Given the description of an element on the screen output the (x, y) to click on. 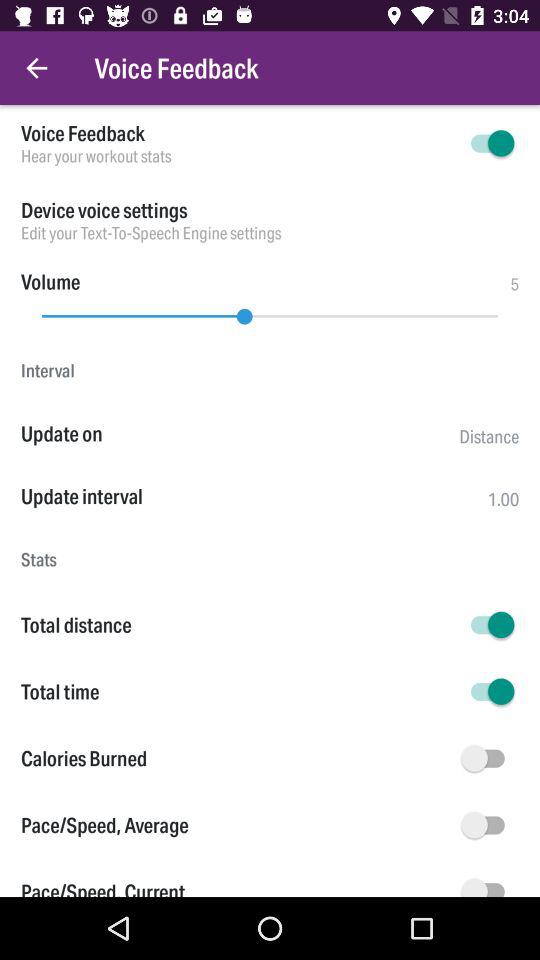
click the item next to voice feedback (36, 68)
